Given the description of an element on the screen output the (x, y) to click on. 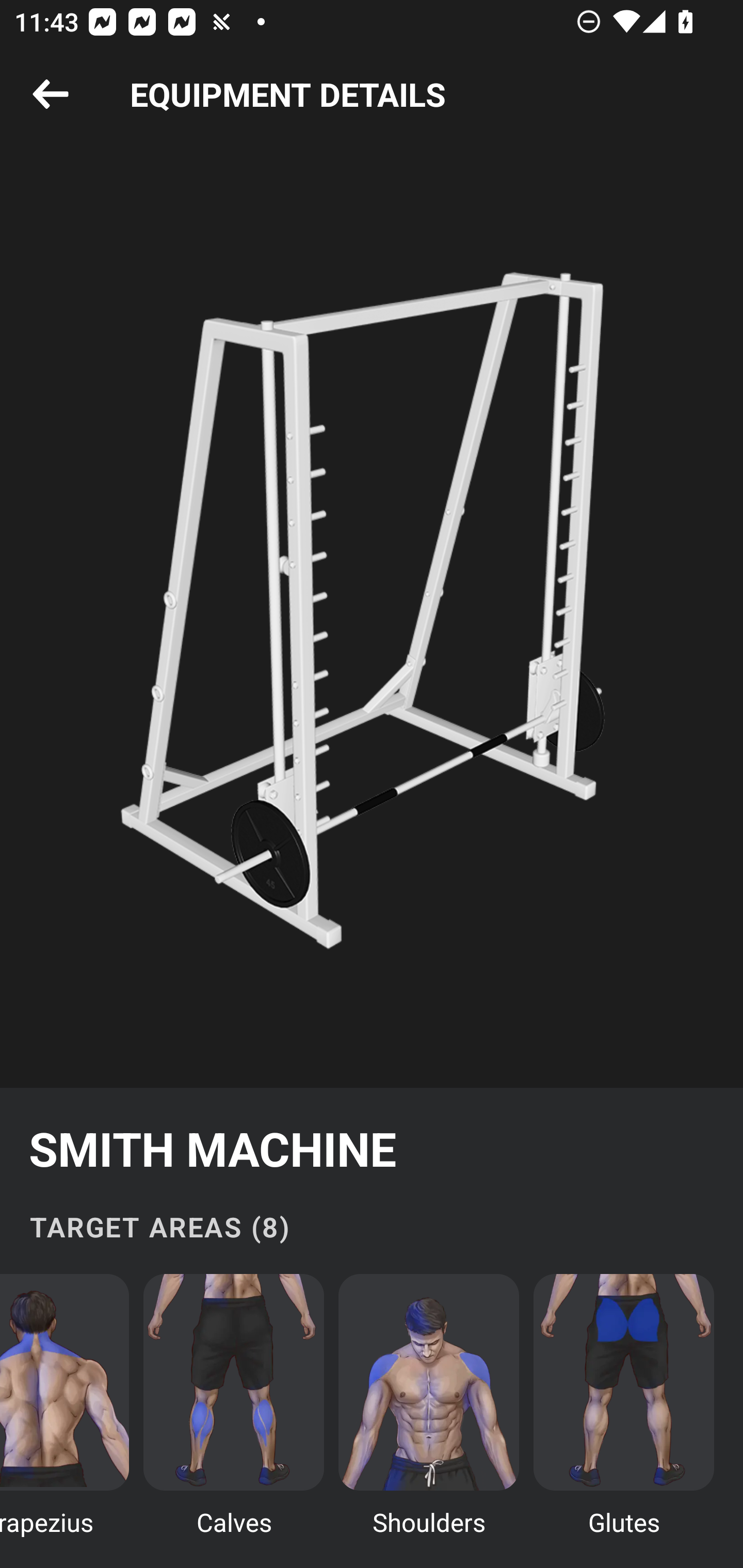
Back Icon (50, 94)
